Given the description of an element on the screen output the (x, y) to click on. 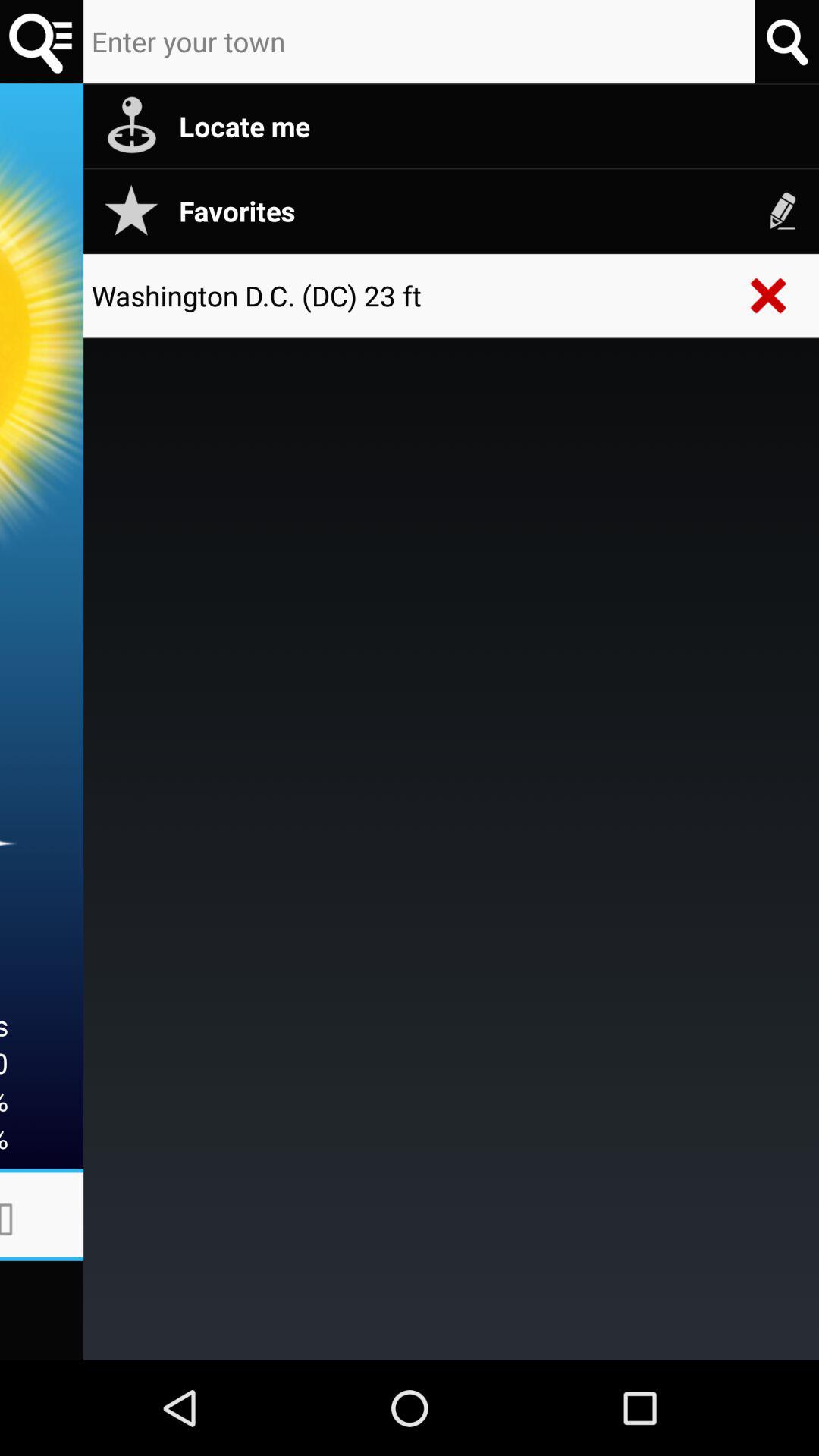
select the washington d c icon (409, 295)
